Given the description of an element on the screen output the (x, y) to click on. 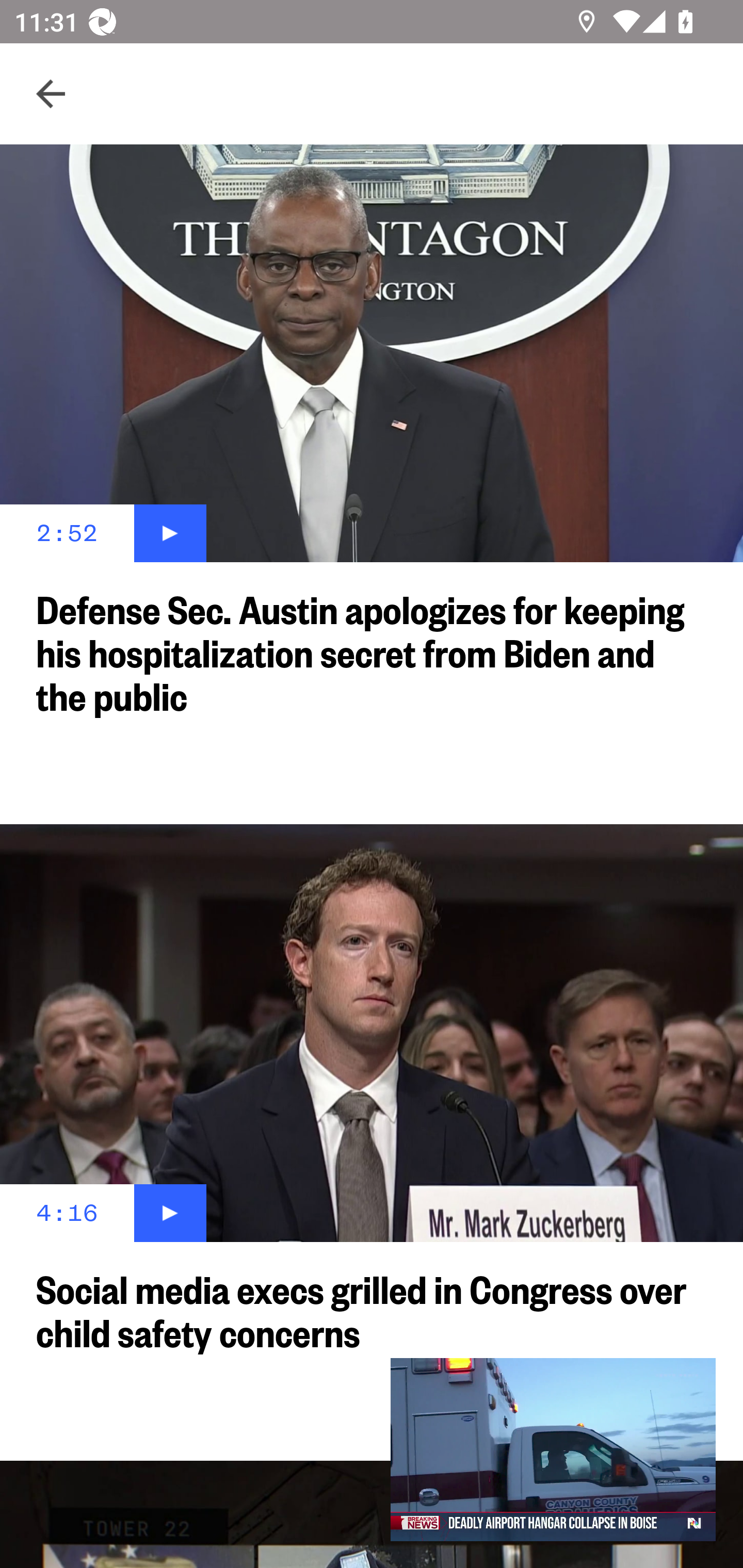
Navigate up (50, 93)
